Given the description of an element on the screen output the (x, y) to click on. 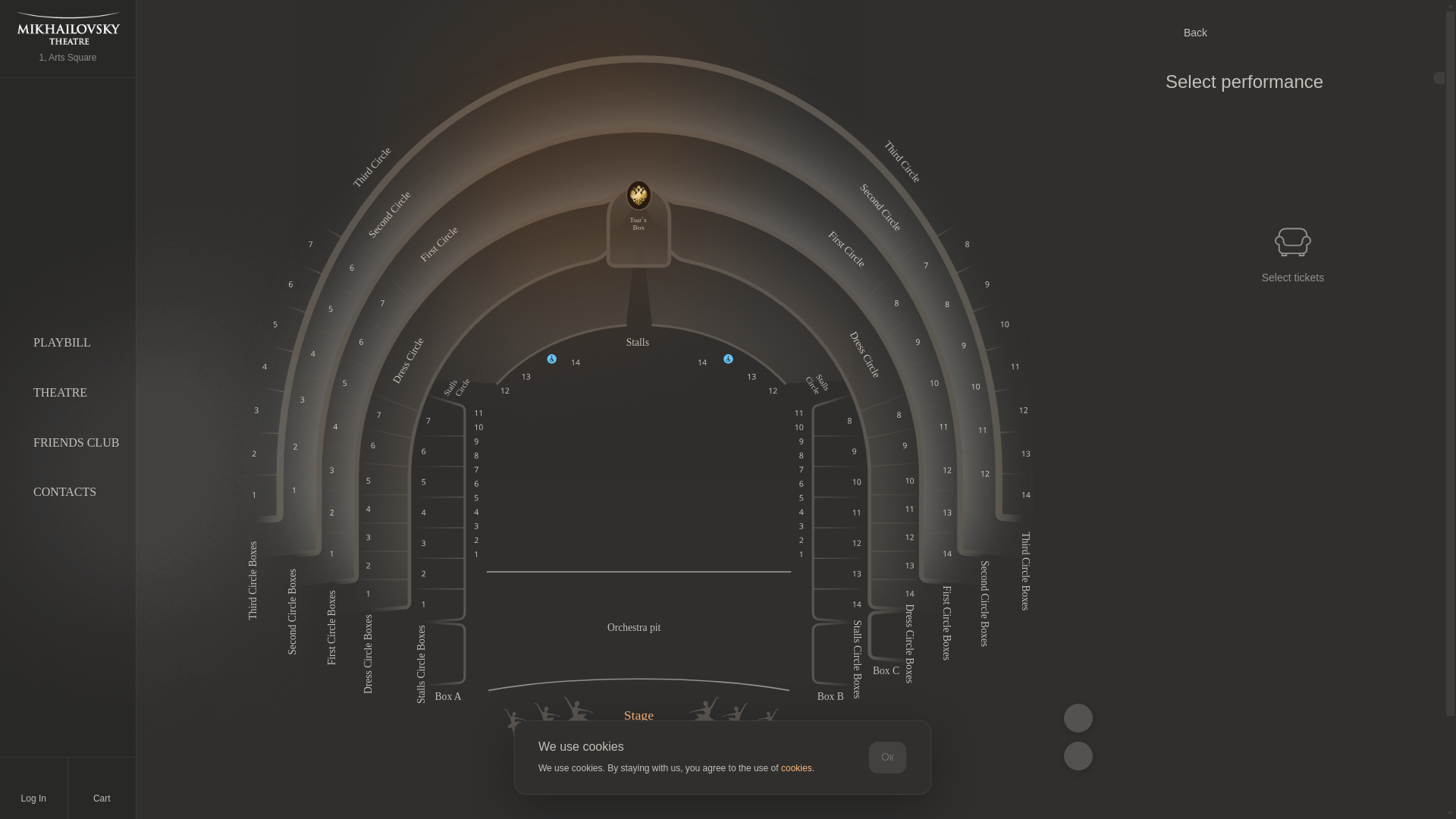
Log In (33, 788)
Select performance (1257, 81)
Cart (102, 788)
Back (1293, 32)
CONTACTS (64, 491)
THEATRE (60, 391)
1, Arts Square (67, 38)
PLAYBILL (61, 341)
FRIENDS CLUB (76, 441)
